Given the description of an element on the screen output the (x, y) to click on. 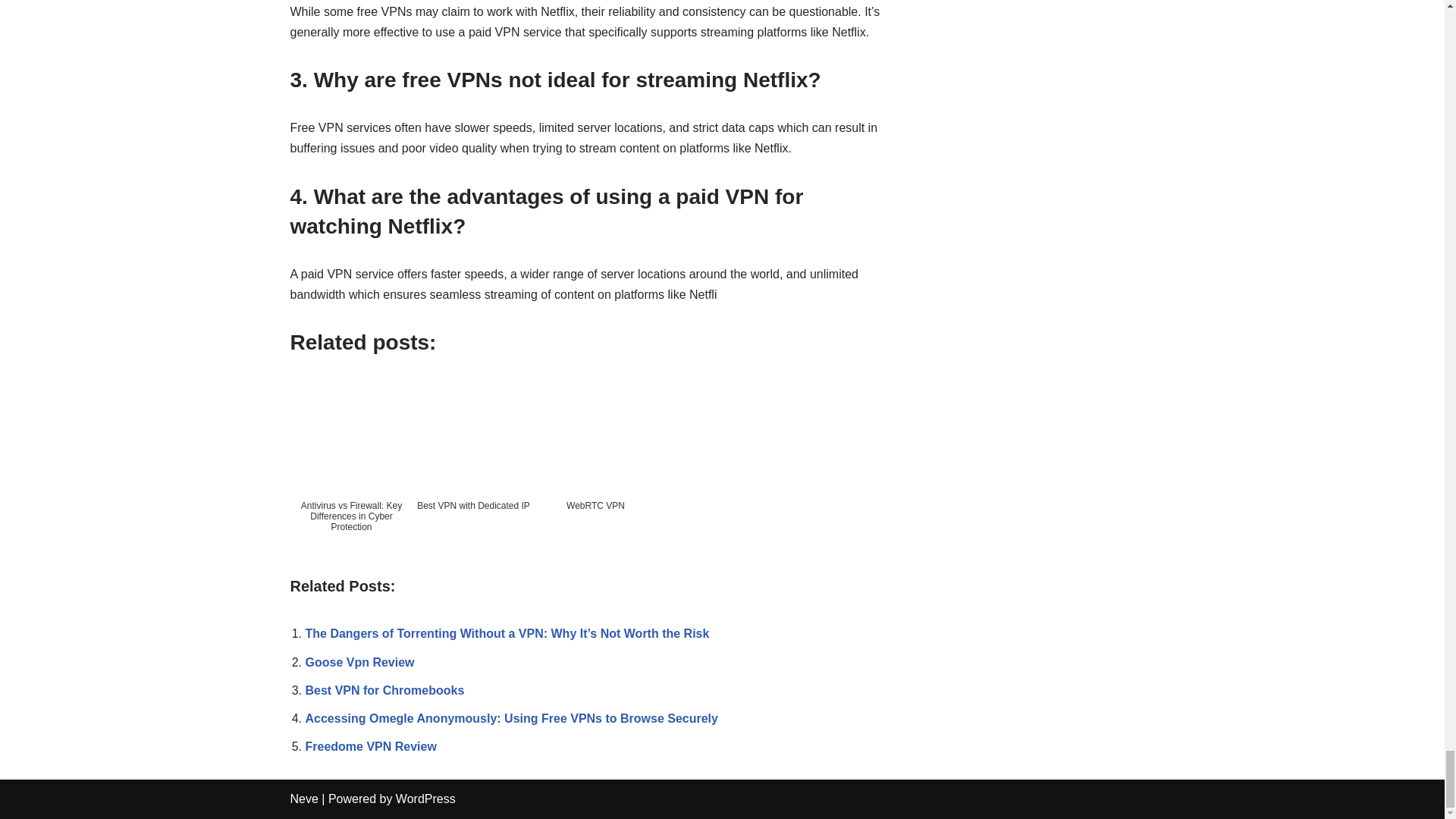
Goose Vpn Review (358, 662)
Best VPN for Chromebooks (384, 689)
Freedome VPN Review (369, 746)
